Given the description of an element on the screen output the (x, y) to click on. 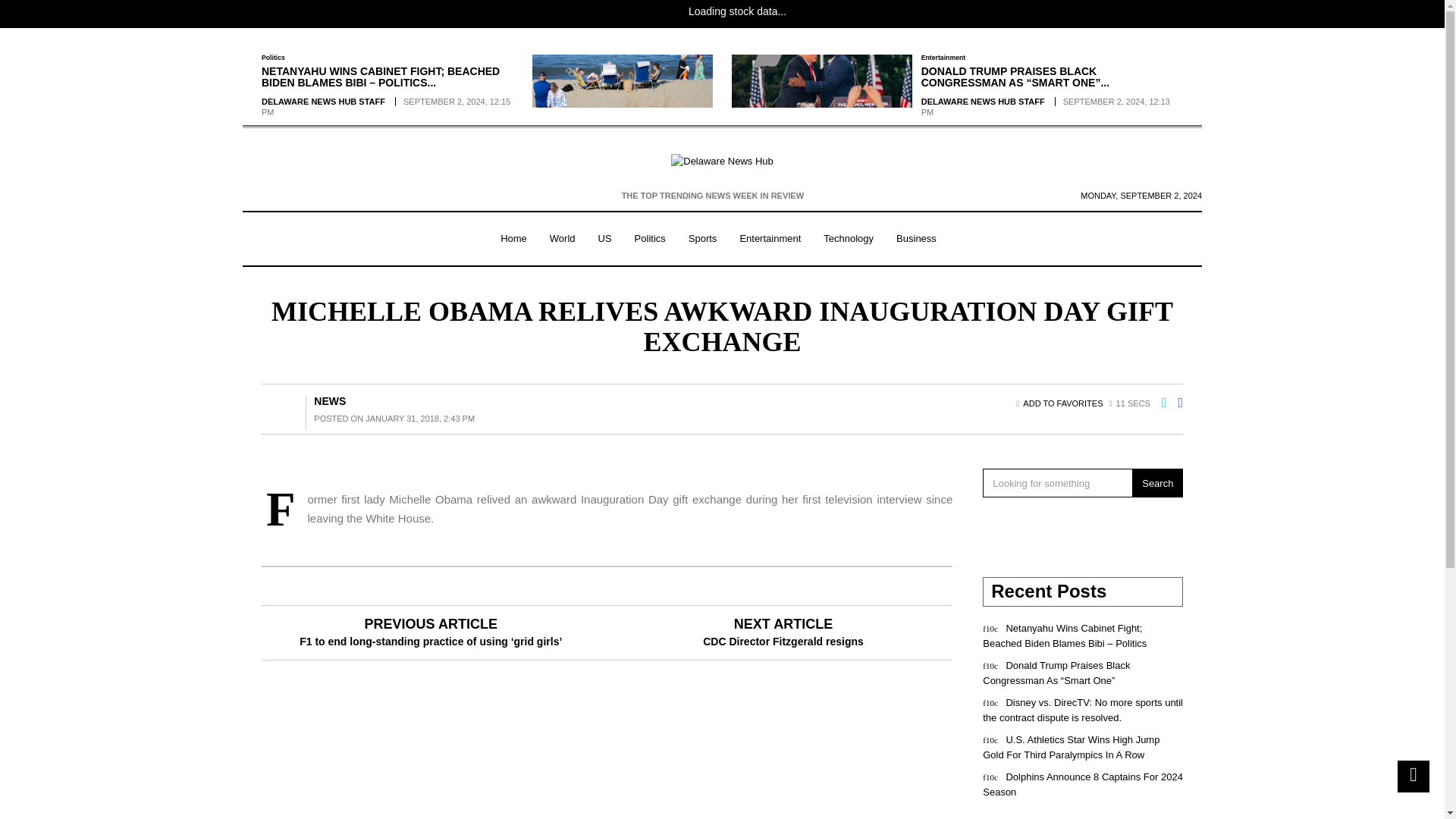
View all posts in Politics (273, 57)
Add to favorites (1062, 402)
DELAWARE NEWS HUB STAFF (323, 101)
CDC Director Fitzgerald resigns (783, 641)
World (562, 238)
Search (1157, 482)
Entertainment (943, 57)
DELAWARE NEWS HUB STAFF (983, 101)
Technology (848, 238)
US (604, 238)
